Given the description of an element on the screen output the (x, y) to click on. 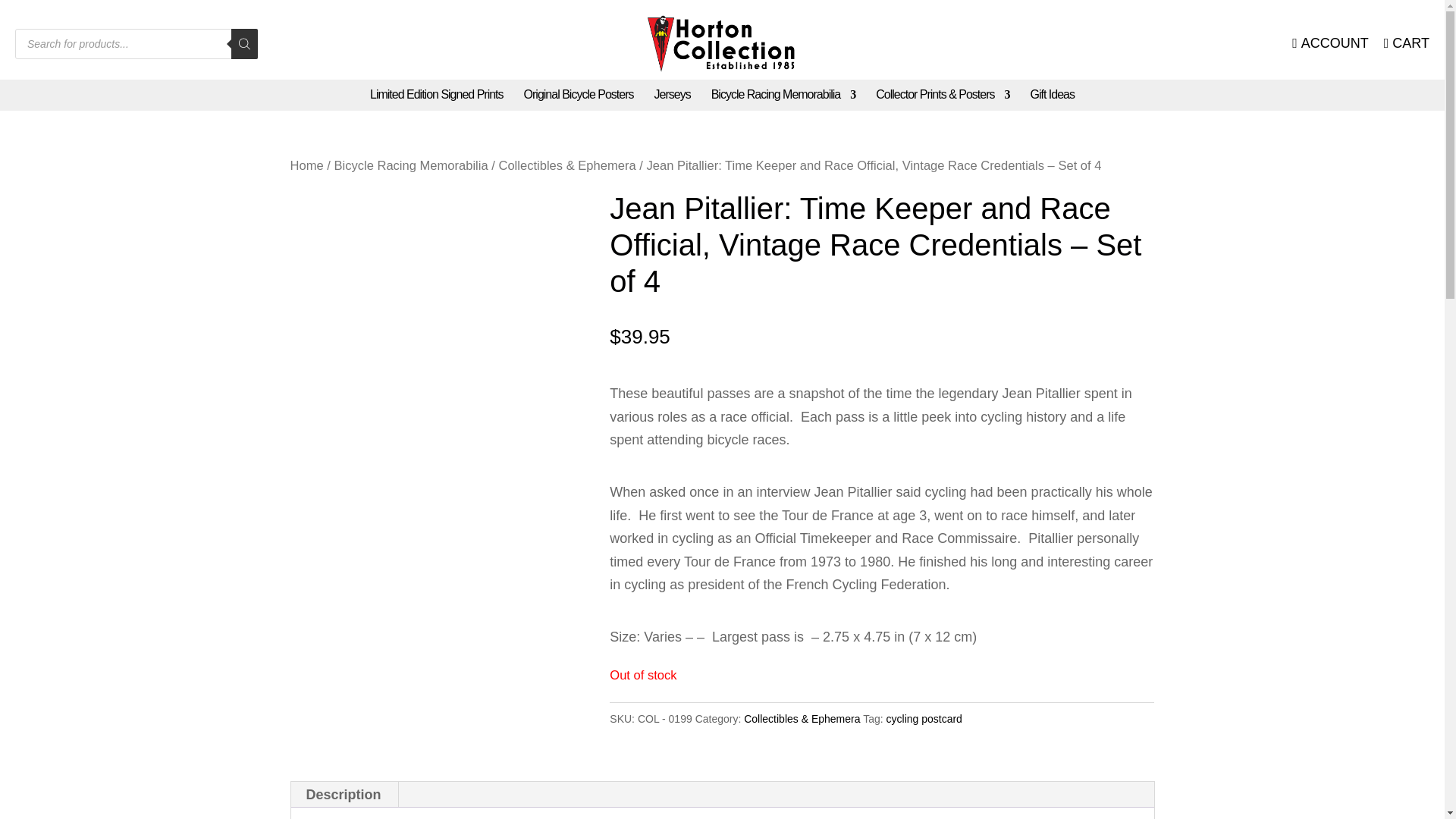
Gift Ideas (1052, 94)
Bicycle Racing Memorabilia (783, 94)
Jerseys (671, 94)
CART (1406, 43)
Limited Edition Signed Prints (436, 94)
Bicycle Racing Memorabilia (410, 165)
Home (306, 165)
ACCOUNT (1330, 43)
cycling postcard (924, 718)
Original Bicycle Posters (578, 94)
